Given the description of an element on the screen output the (x, y) to click on. 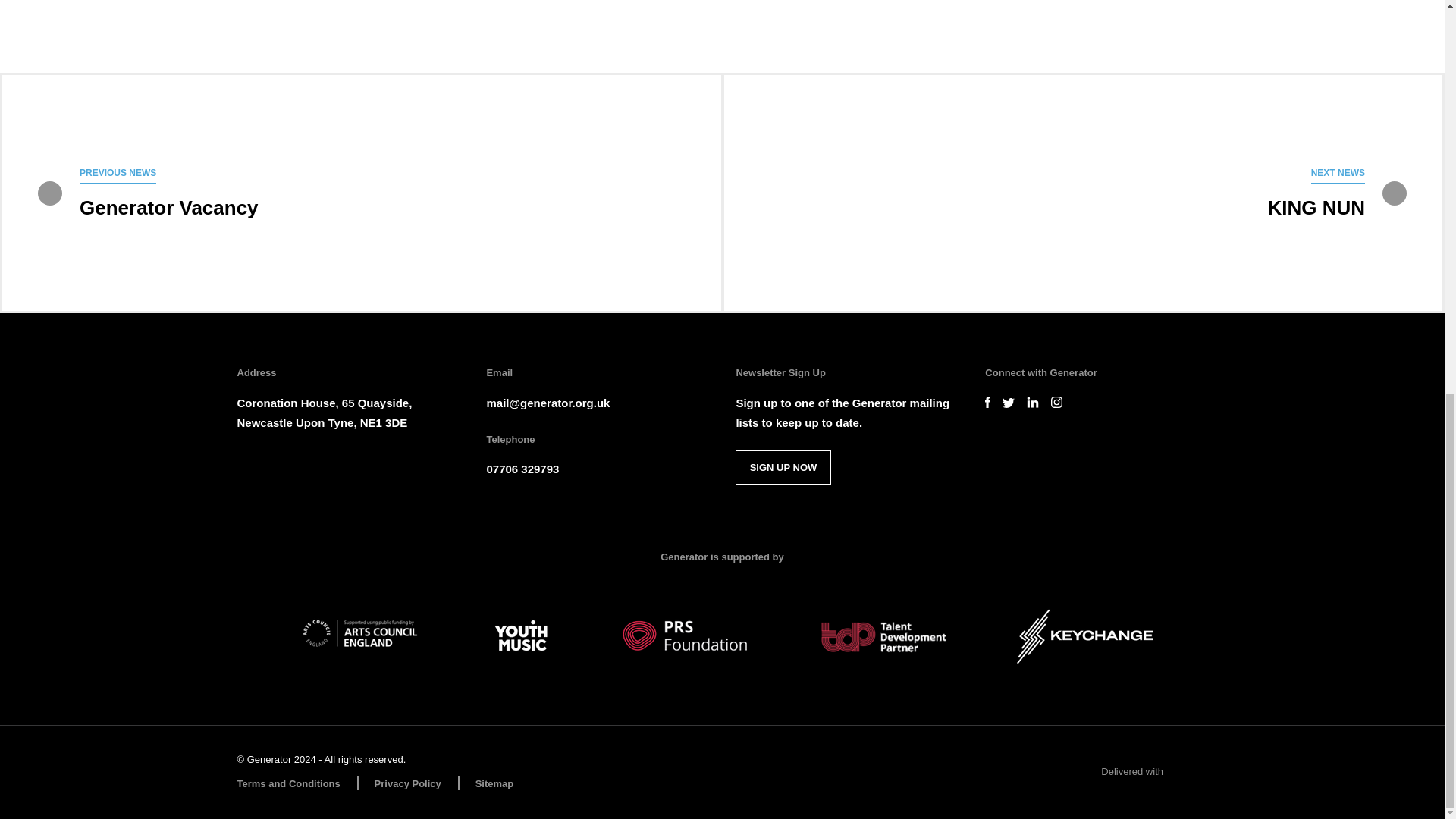
SIGN UP NOW (782, 467)
